Given the description of an element on the screen output the (x, y) to click on. 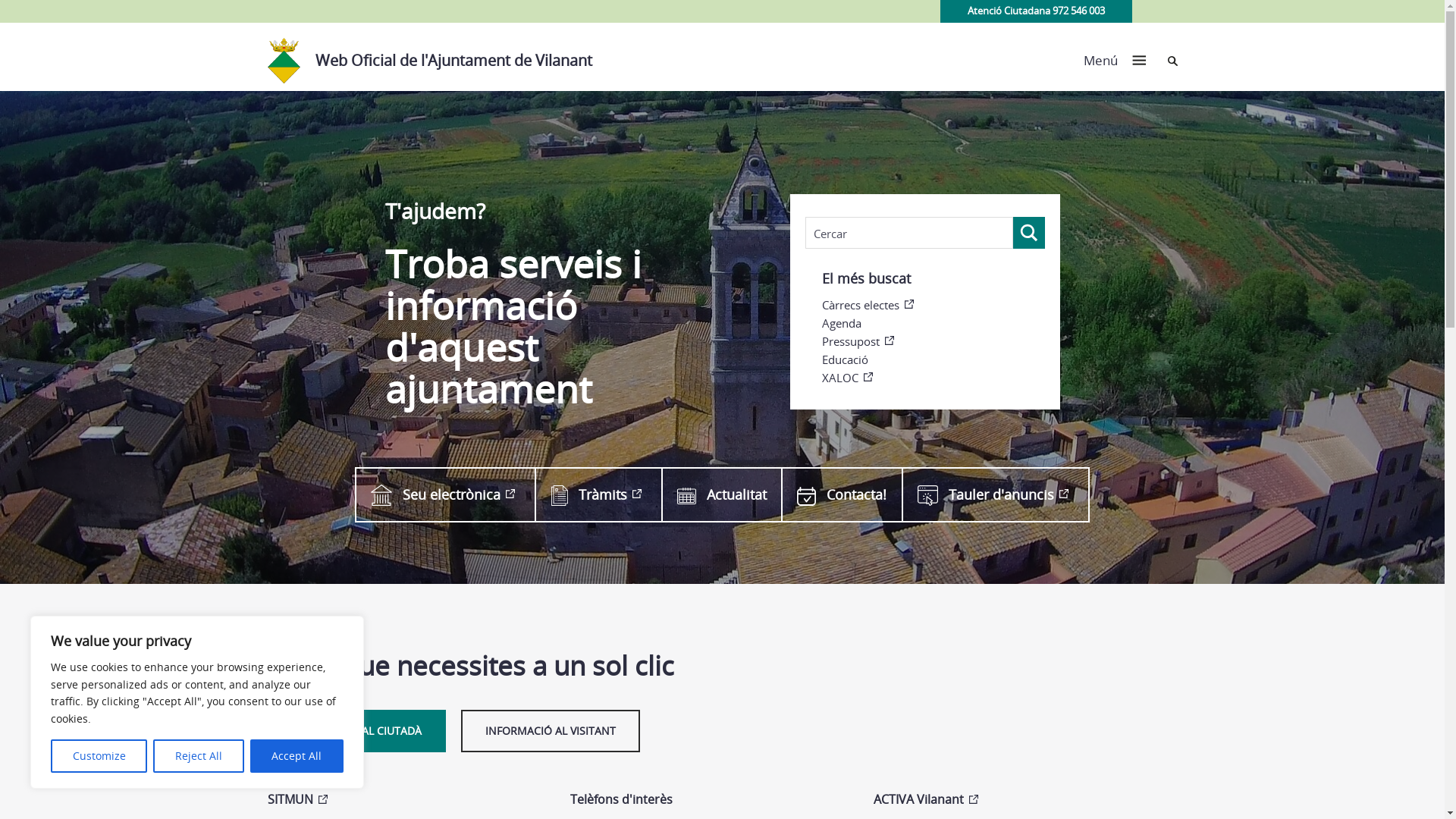
Web Oficial de l'Ajuntament de Vilanant Element type: text (436, 56)
SITMUN Element type: text (402, 799)
ACTIVA Vilanant Element type: text (1009, 799)
Icones-e-tauler
Tauler d'anuncis Element type: text (995, 494)
Pressupost Element type: text (933, 341)
Customize Element type: text (98, 755)
Agenda Element type: text (933, 322)
Icones-Actualitat
Actualitat Element type: text (721, 494)
Reject All Element type: text (198, 755)
Cerca Element type: text (1172, 60)
Icones-Cita-previa
Contacta! Element type: text (840, 494)
XALOC Element type: text (933, 377)
Accept All Element type: text (296, 755)
